Given the description of an element on the screen output the (x, y) to click on. 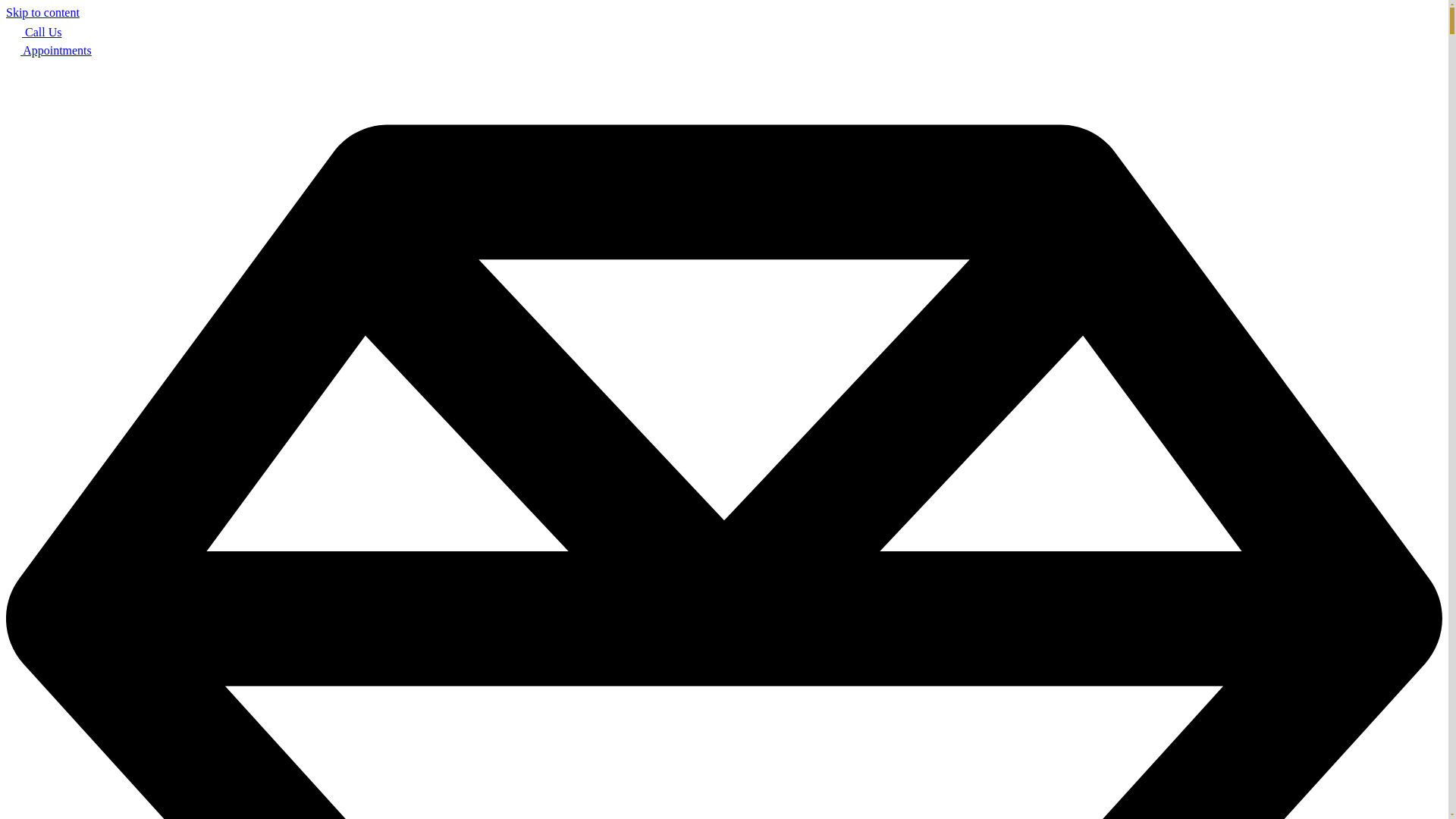
Appointments (48, 50)
Skip to content (42, 11)
Call Us (33, 31)
